Given the description of an element on the screen output the (x, y) to click on. 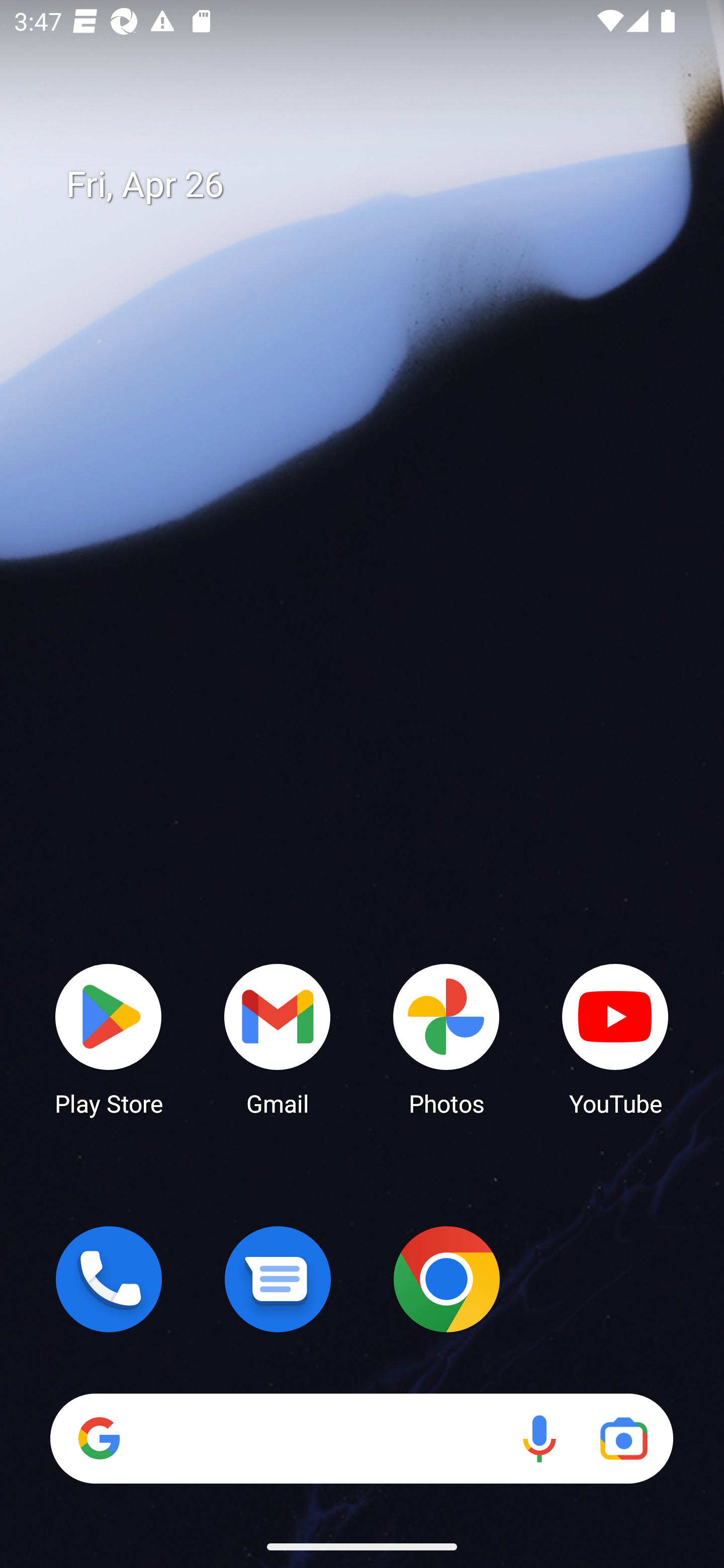
Fri, Apr 26 (375, 184)
Play Store (108, 1038)
Gmail (277, 1038)
Photos (445, 1038)
YouTube (615, 1038)
Phone (108, 1279)
Messages (277, 1279)
Chrome (446, 1279)
Search Voice search Google Lens (361, 1438)
Voice search (539, 1438)
Google Lens (623, 1438)
